Given the description of an element on the screen output the (x, y) to click on. 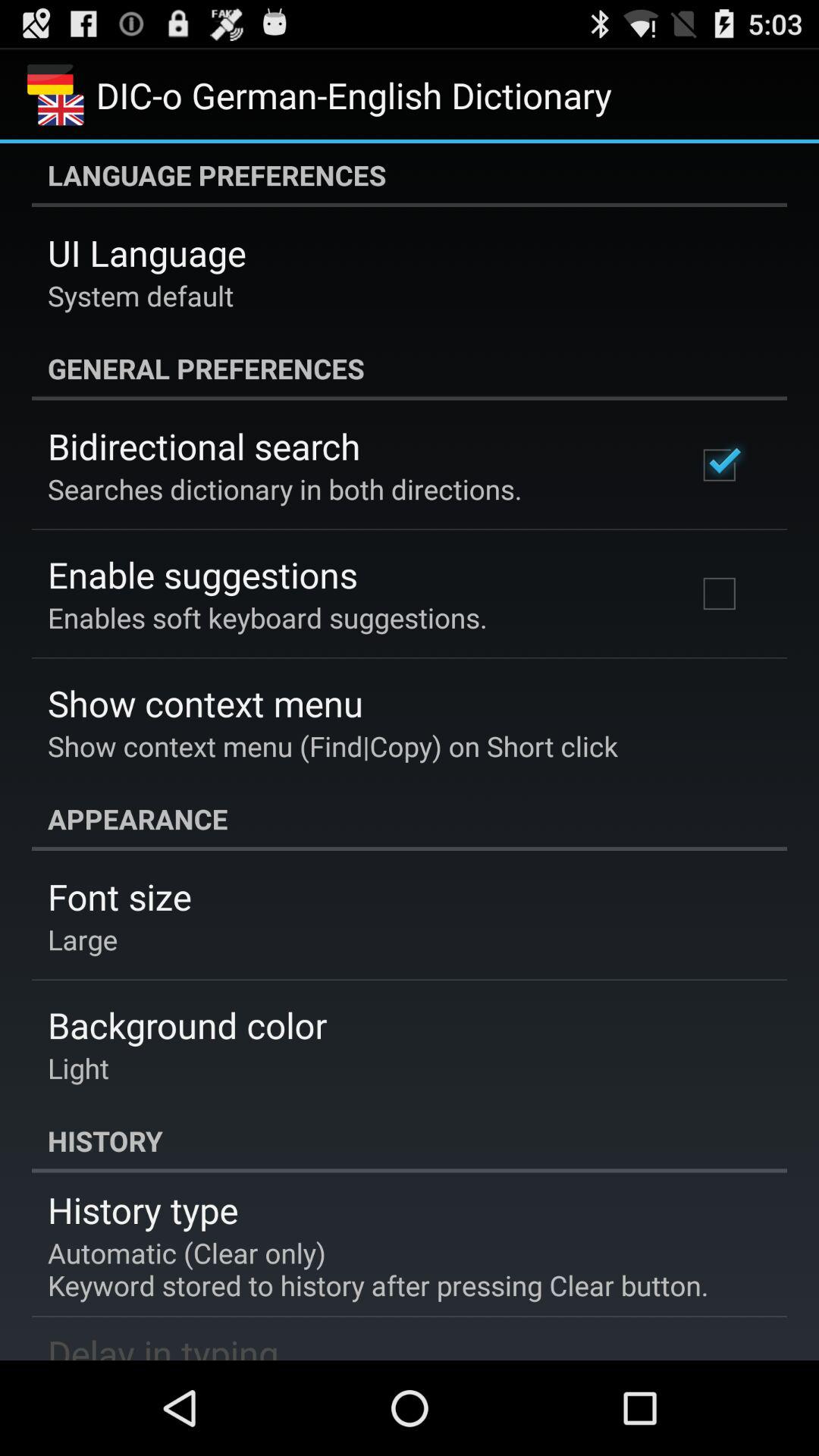
turn on the app below searches dictionary in app (202, 574)
